Given the description of an element on the screen output the (x, y) to click on. 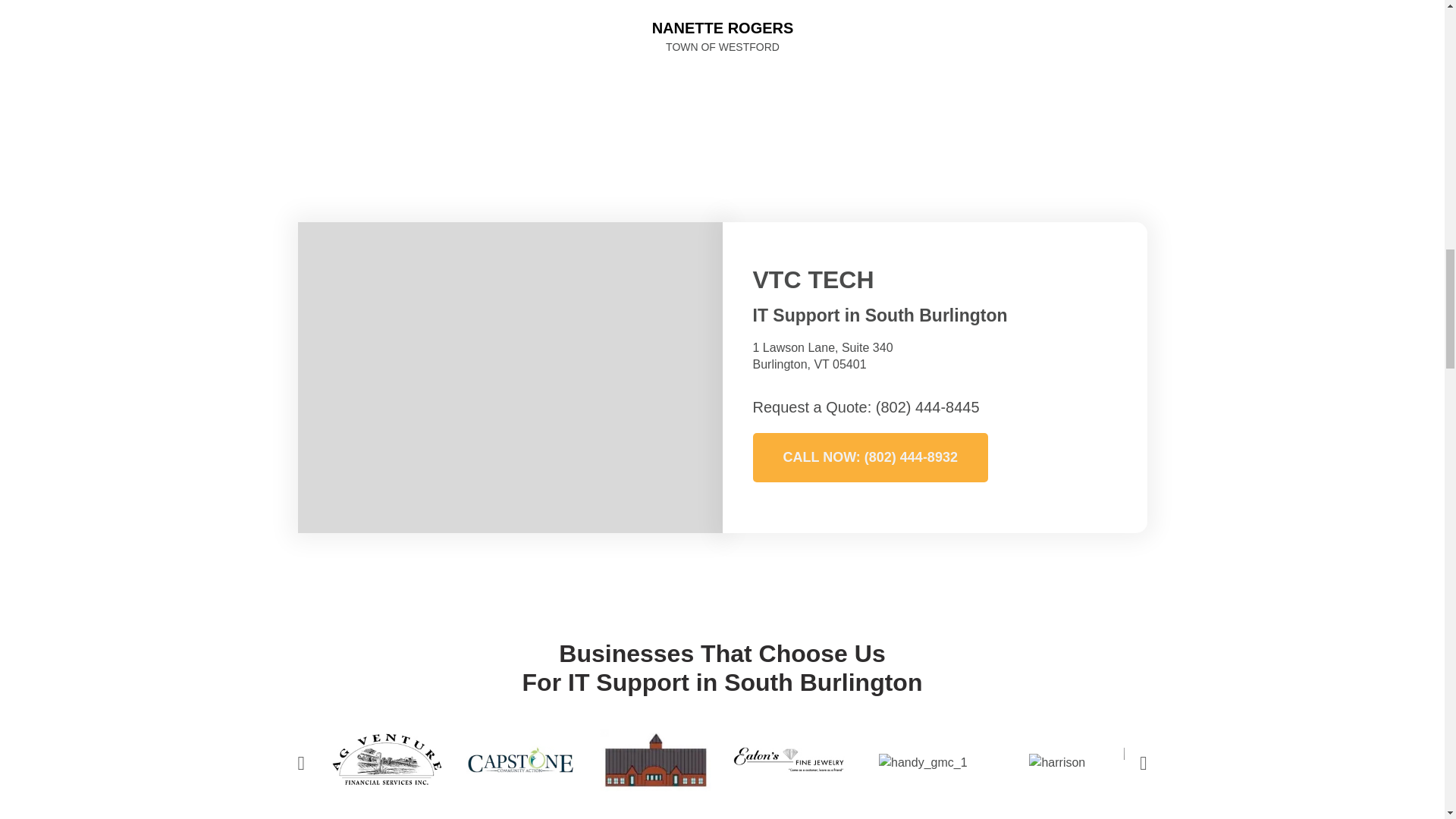
1 Lawson Lane, Burlington, VT 05401 (509, 377)
